Given the description of an element on the screen output the (x, y) to click on. 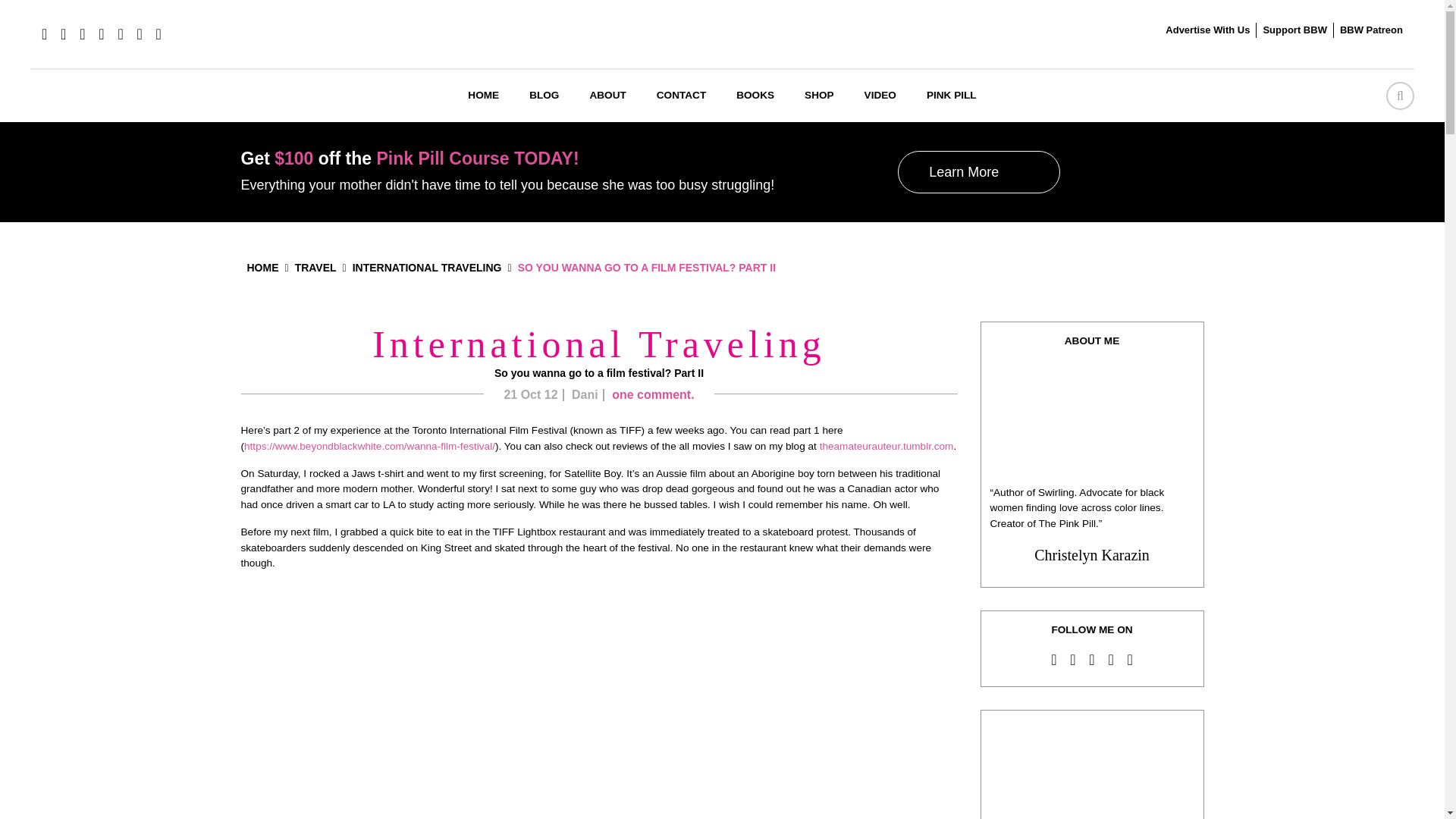
BLOG (543, 94)
CONTACT (681, 94)
ABOUT (606, 94)
PINK PILL (951, 94)
VIDEO (879, 94)
BBW Patreon (1371, 30)
Go to Travel. (315, 267)
HOME (482, 94)
Go to So you wanna go to a film festival? Part II. (647, 267)
Advertise With Us (1207, 30)
Go to International Traveling. (427, 267)
Support BBW (1294, 30)
BOOKS (754, 94)
SHOP (818, 94)
